Given the description of an element on the screen output the (x, y) to click on. 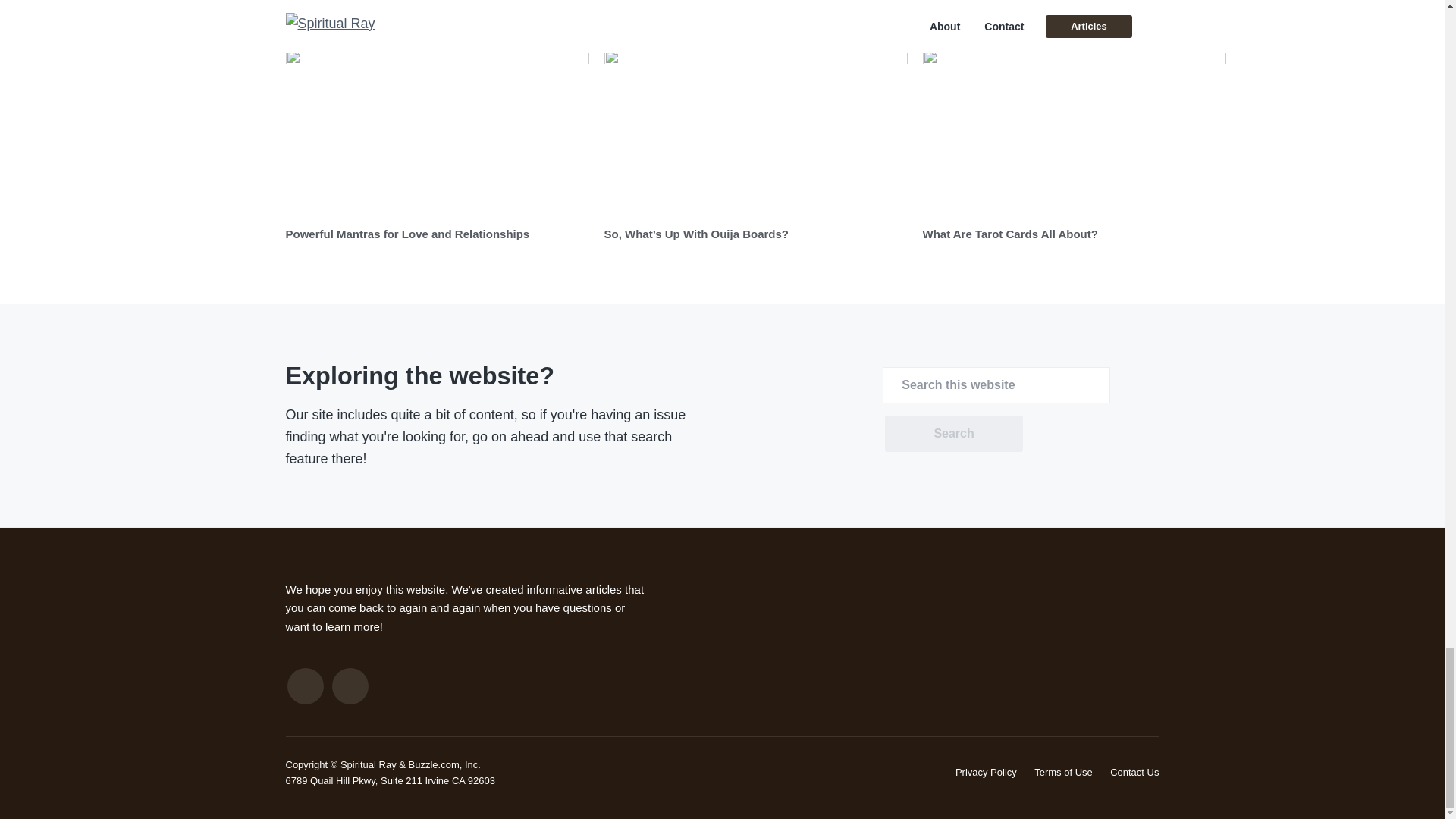
Permanent Link to What Are Tarot Cards All About? (1073, 133)
Permanent Link to What Are Tarot Cards All About? (1009, 233)
Powerful Mantras for Love and Relationships (407, 233)
Search (953, 433)
Privacy Policy (985, 772)
Search (953, 433)
What Are Tarot Cards All About? (1009, 233)
Search (953, 433)
